Given the description of an element on the screen output the (x, y) to click on. 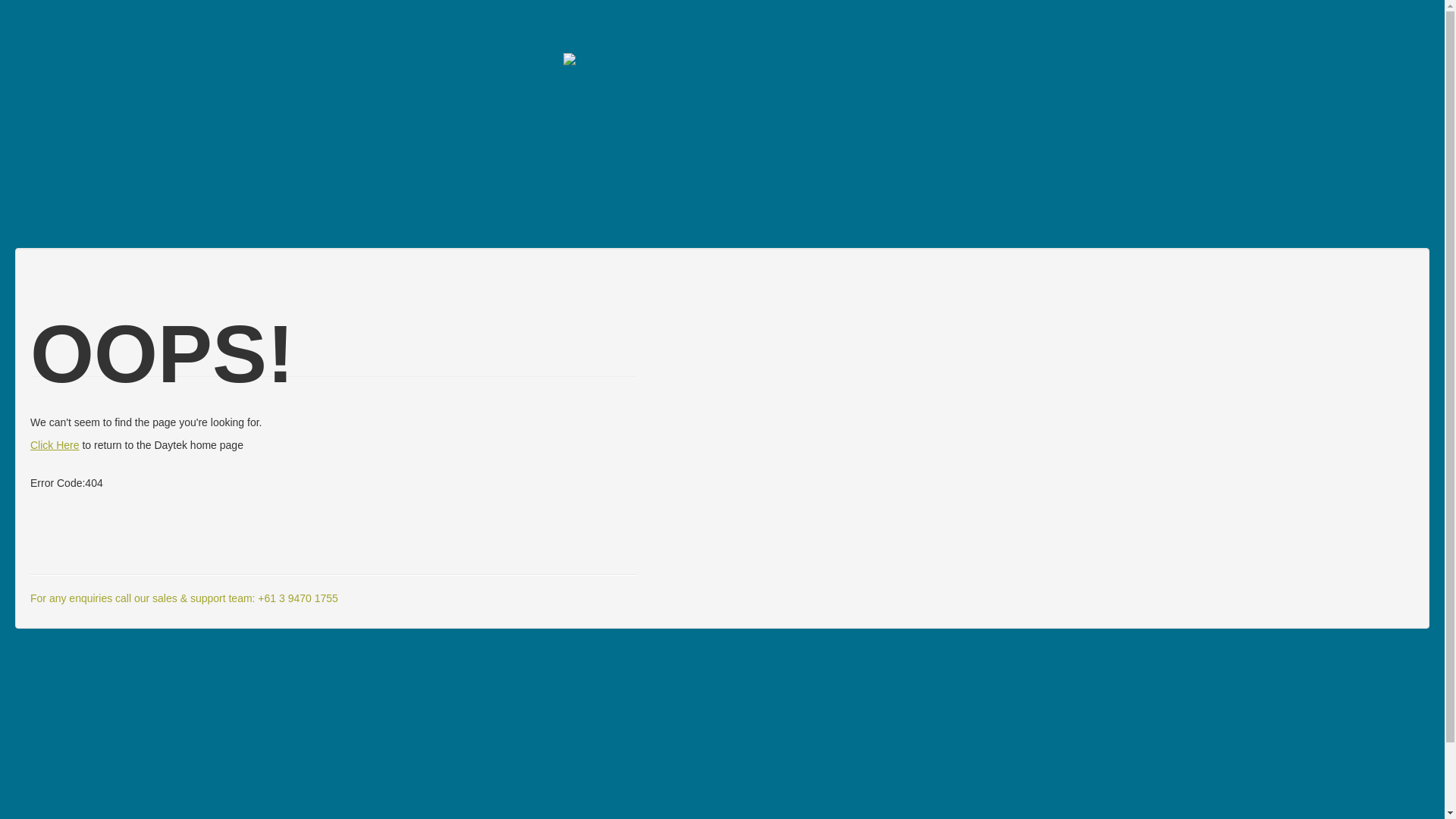
Click Here Element type: text (54, 444)
